Given the description of an element on the screen output the (x, y) to click on. 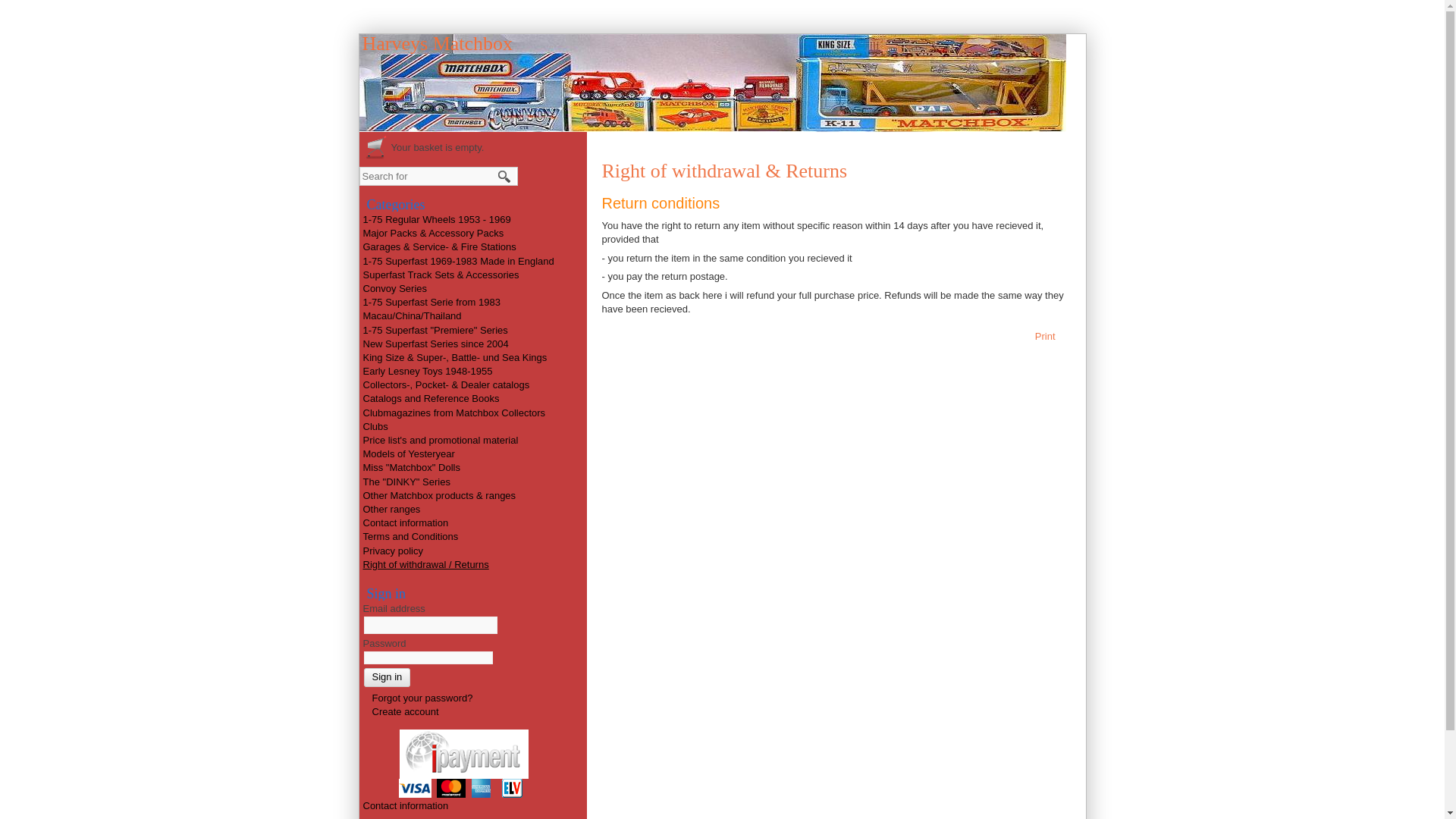
Clubmagazines from Matchbox Collectors Clubs (453, 419)
ipayment (462, 753)
This shop supports payment using ELV. (512, 787)
Catalogs and Reference Books (430, 398)
This shop supports payment using Visa. (414, 787)
Models of Yesteryear (408, 453)
Privacy policy (392, 550)
Early Lesney Toys 1948-1955 (427, 370)
This shop supports payment using Amex. (480, 787)
Forgot your password? (416, 697)
Harveys Matchbox (437, 43)
This shop supports payment using Mastercard. (450, 787)
Terms and Conditions (410, 536)
Contact information (405, 805)
New Superfast Series since 2004 (435, 343)
